Given the description of an element on the screen output the (x, y) to click on. 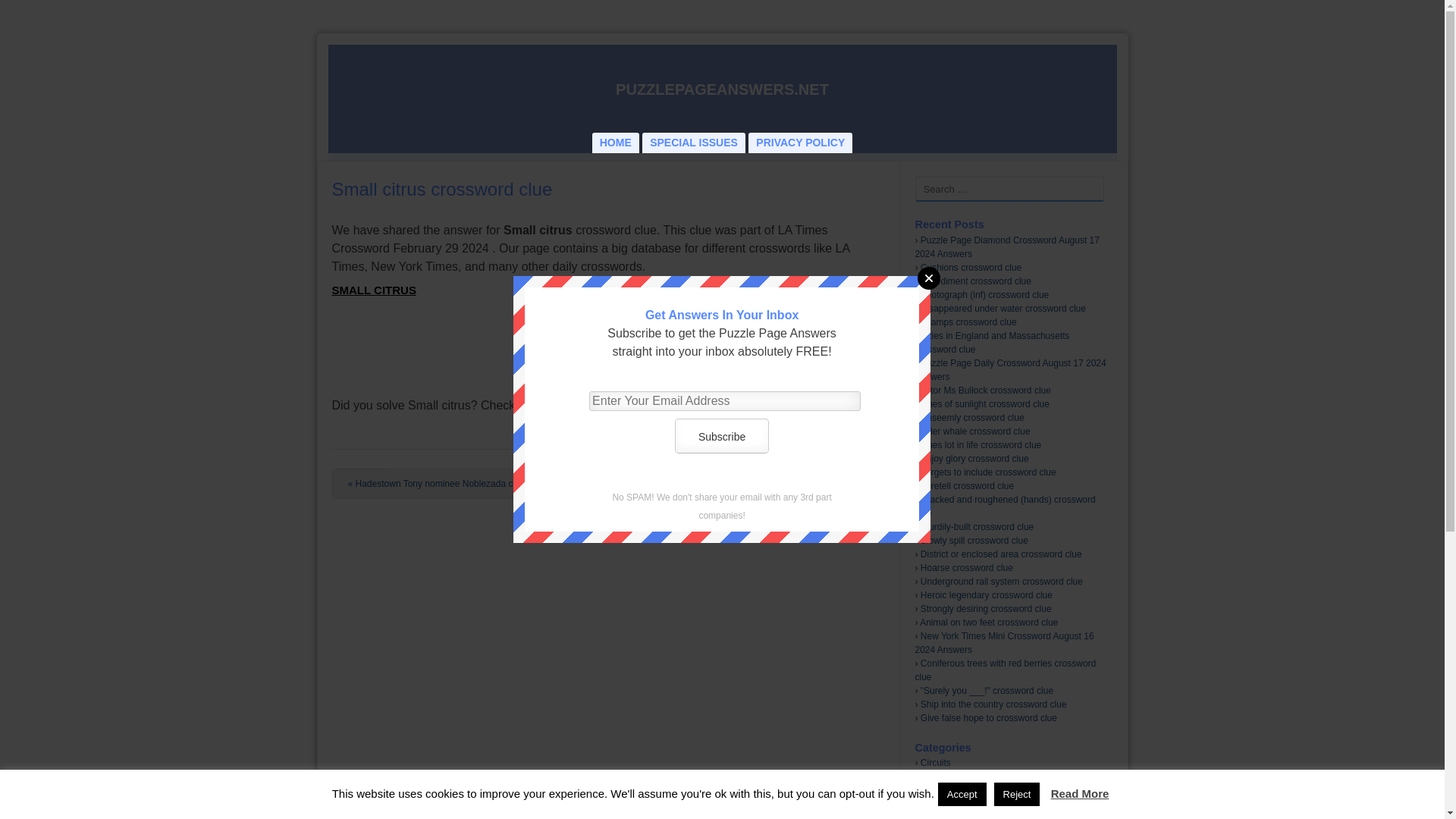
Lines of sunlight crossword clue (984, 403)
Puzzle Page Diamond Crossword August 17 2024 Answers (1006, 247)
Forgets to include crossword clue (988, 471)
PUZZLEPAGEANSWERS.NET (721, 89)
PuzzlePageAnswers.net (721, 89)
Hoarse crossword clue (966, 567)
Slowly spill crossword clue (973, 540)
Strongly desiring crossword clue (985, 608)
PRIVACY POLICY (799, 142)
Scamps crossword clue (968, 321)
